Given the description of an element on the screen output the (x, y) to click on. 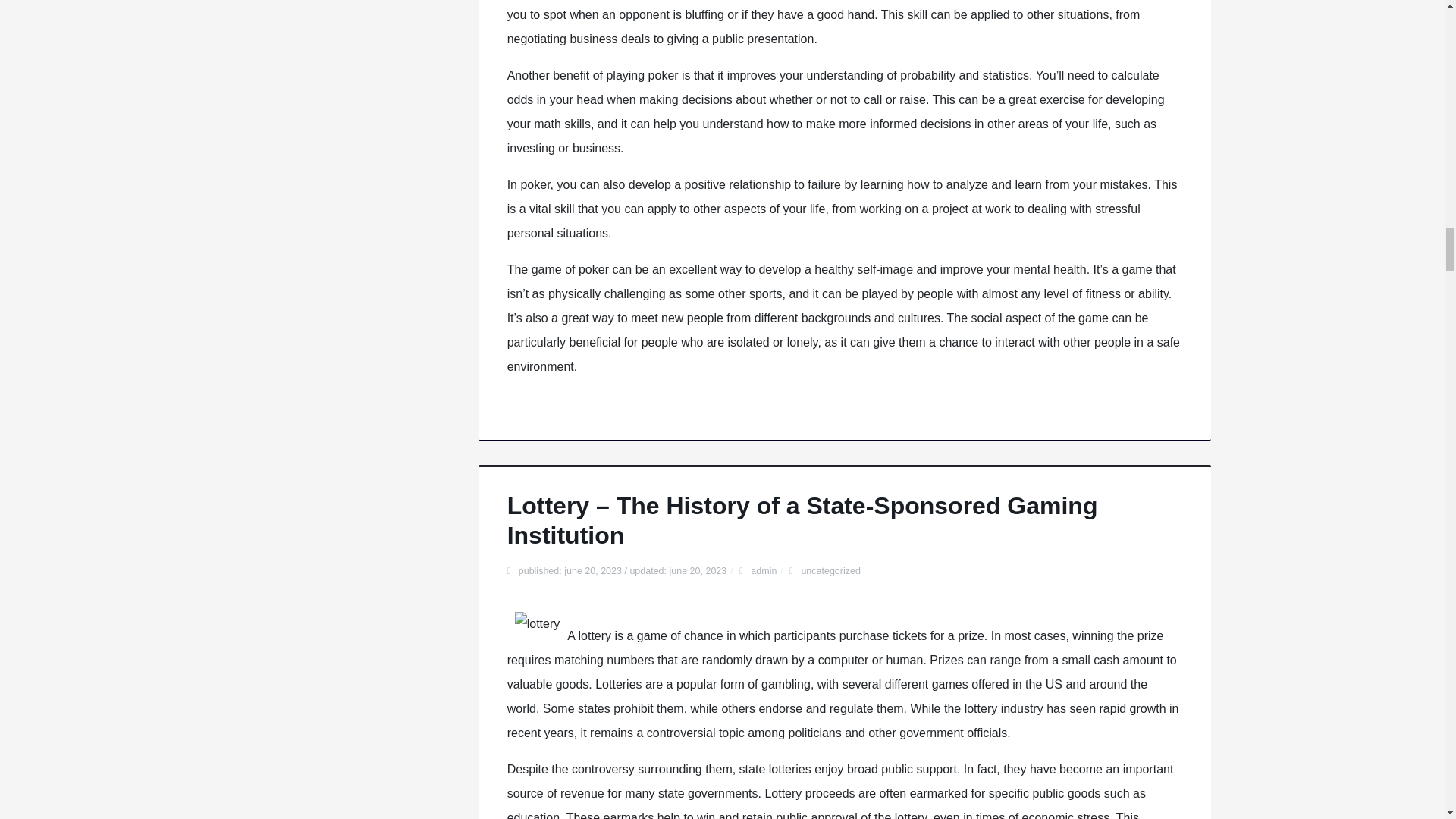
uncategorized (830, 570)
admin (763, 570)
